Given the description of an element on the screen output the (x, y) to click on. 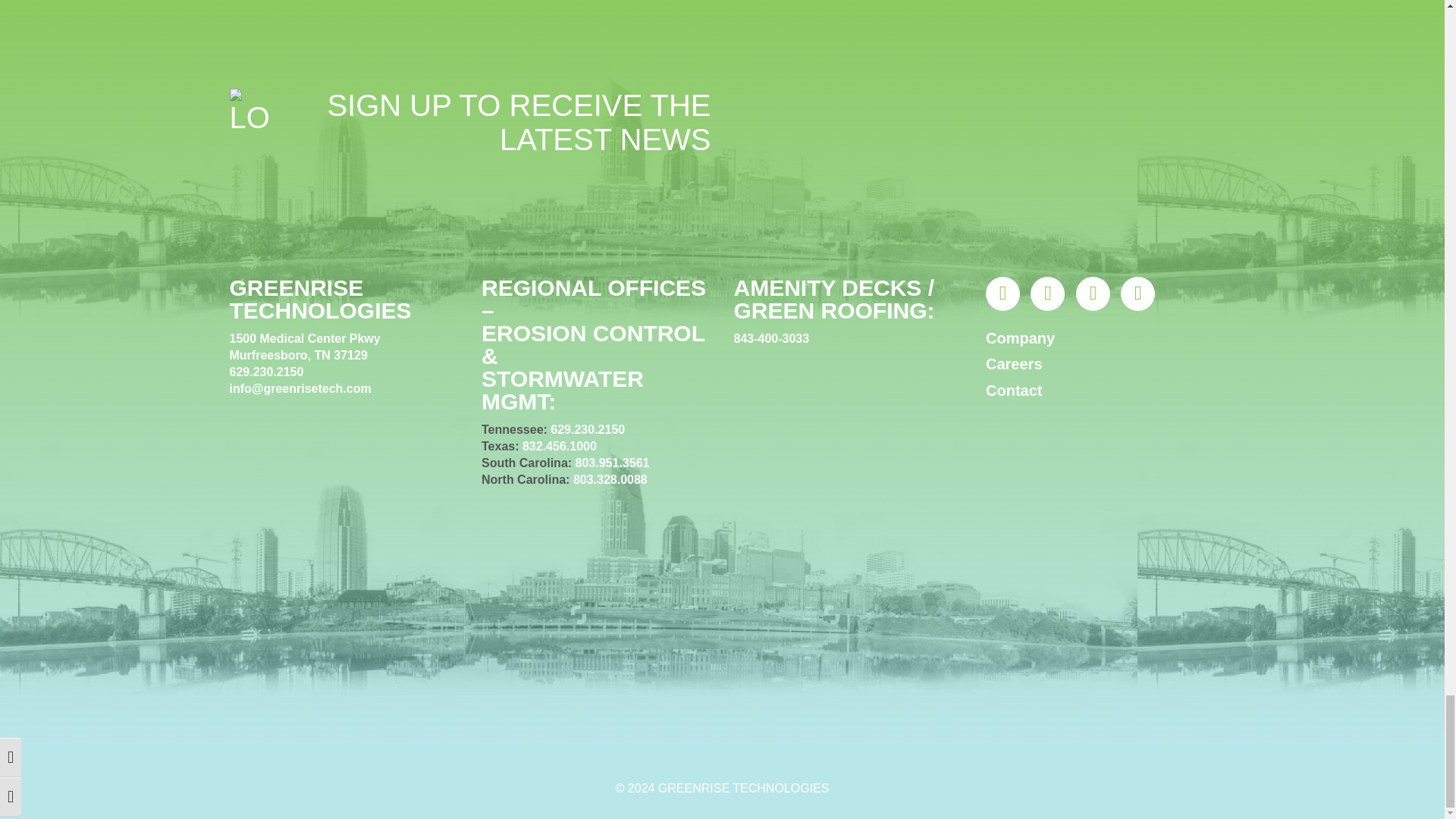
Form 0 (974, 144)
